Given the description of an element on the screen output the (x, y) to click on. 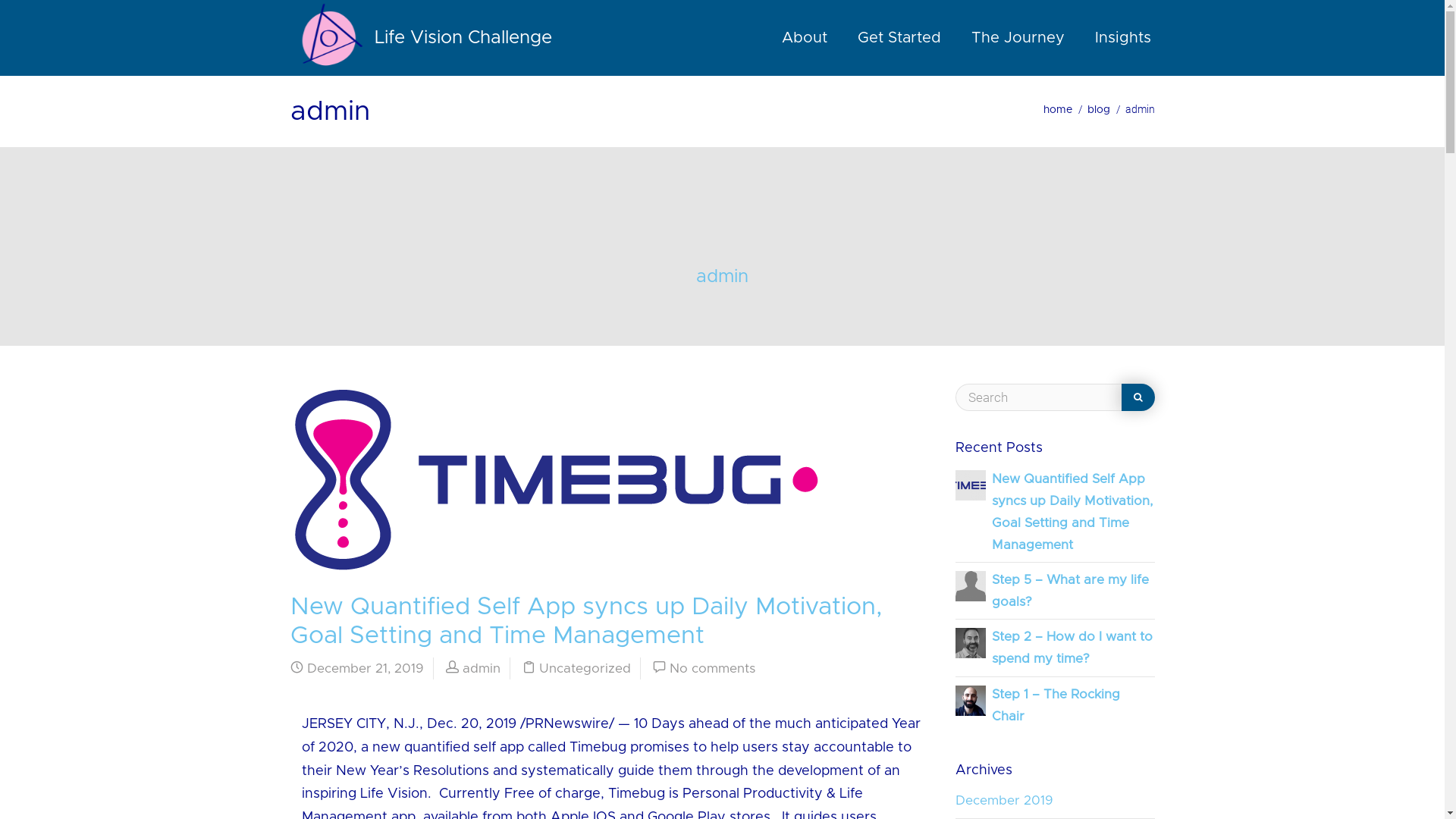
December 2019 Element type: text (1004, 799)
admin Element type: text (481, 668)
Get Started Element type: text (898, 37)
admin Element type: text (722, 276)
Life Vision Challenge Element type: text (420, 37)
The Journey Element type: text (1017, 37)
No comments Element type: text (711, 668)
Search Element type: text (1137, 397)
About Element type: text (803, 37)
Uncategorized Element type: text (584, 668)
Insights Element type: text (1122, 37)
home Element type: text (1057, 109)
blog Element type: text (1098, 109)
